Given the description of an element on the screen output the (x, y) to click on. 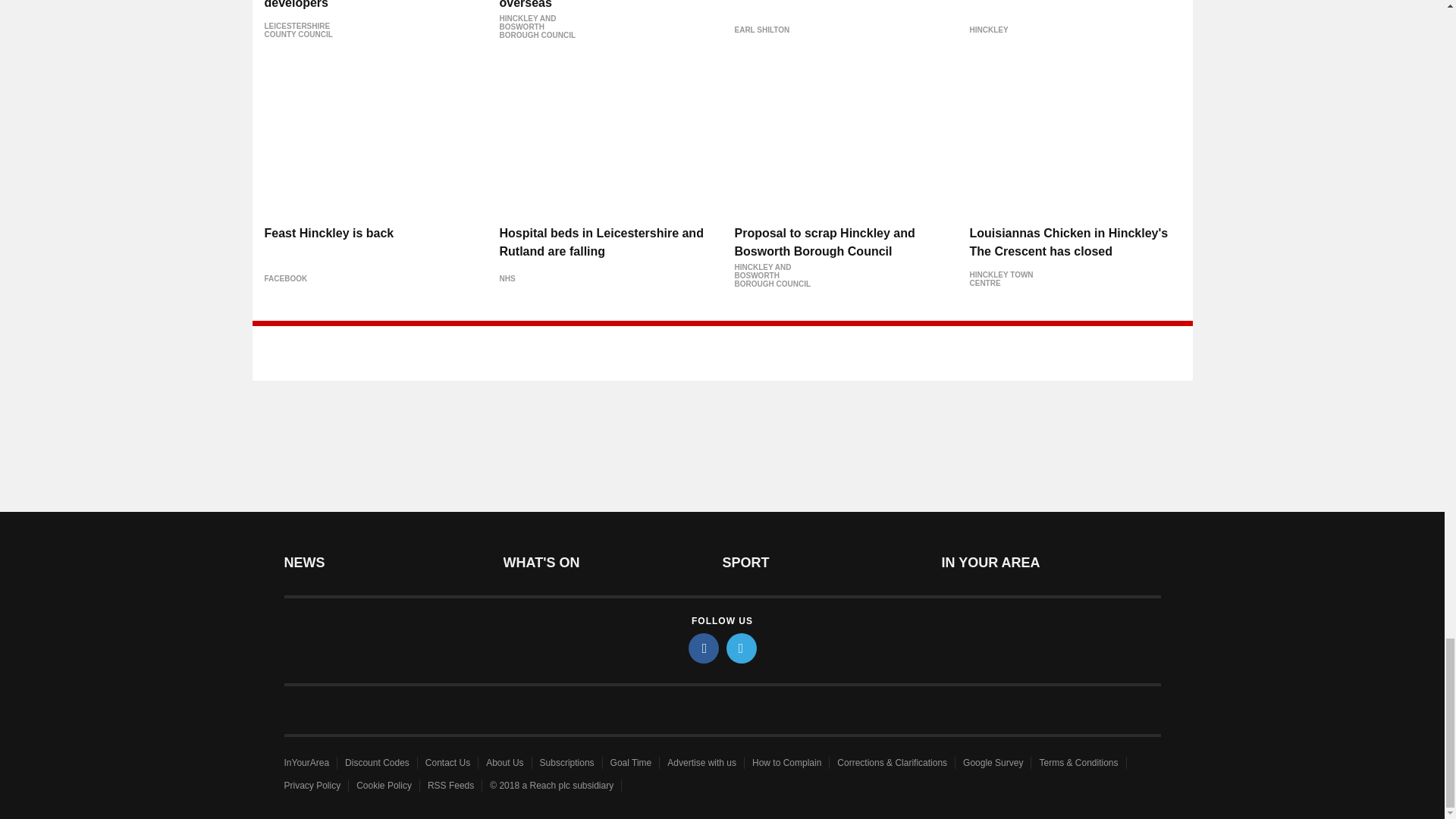
twitter (741, 648)
facebook (703, 648)
